Given the description of an element on the screen output the (x, y) to click on. 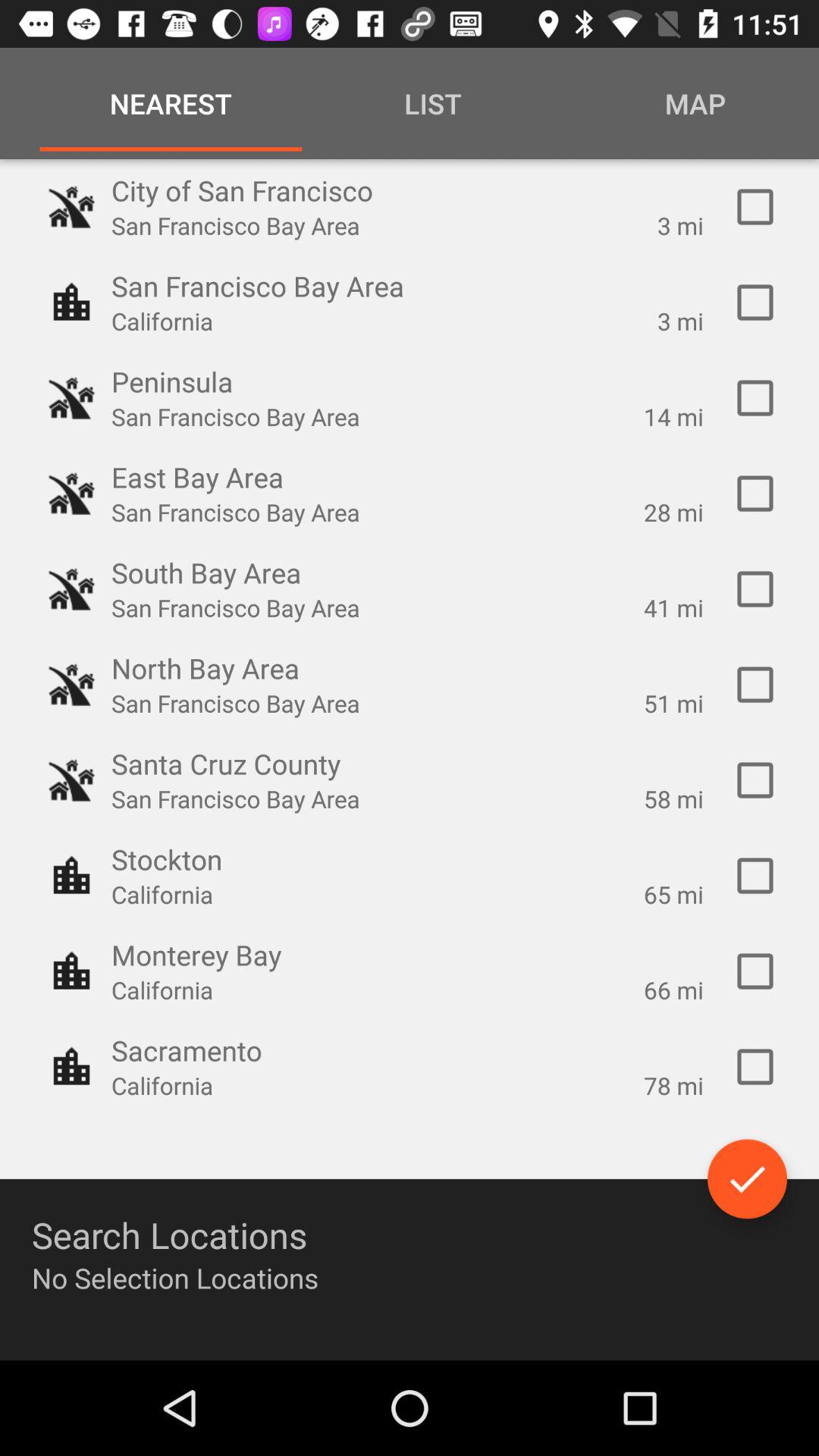
select this area button (755, 206)
